Given the description of an element on the screen output the (x, y) to click on. 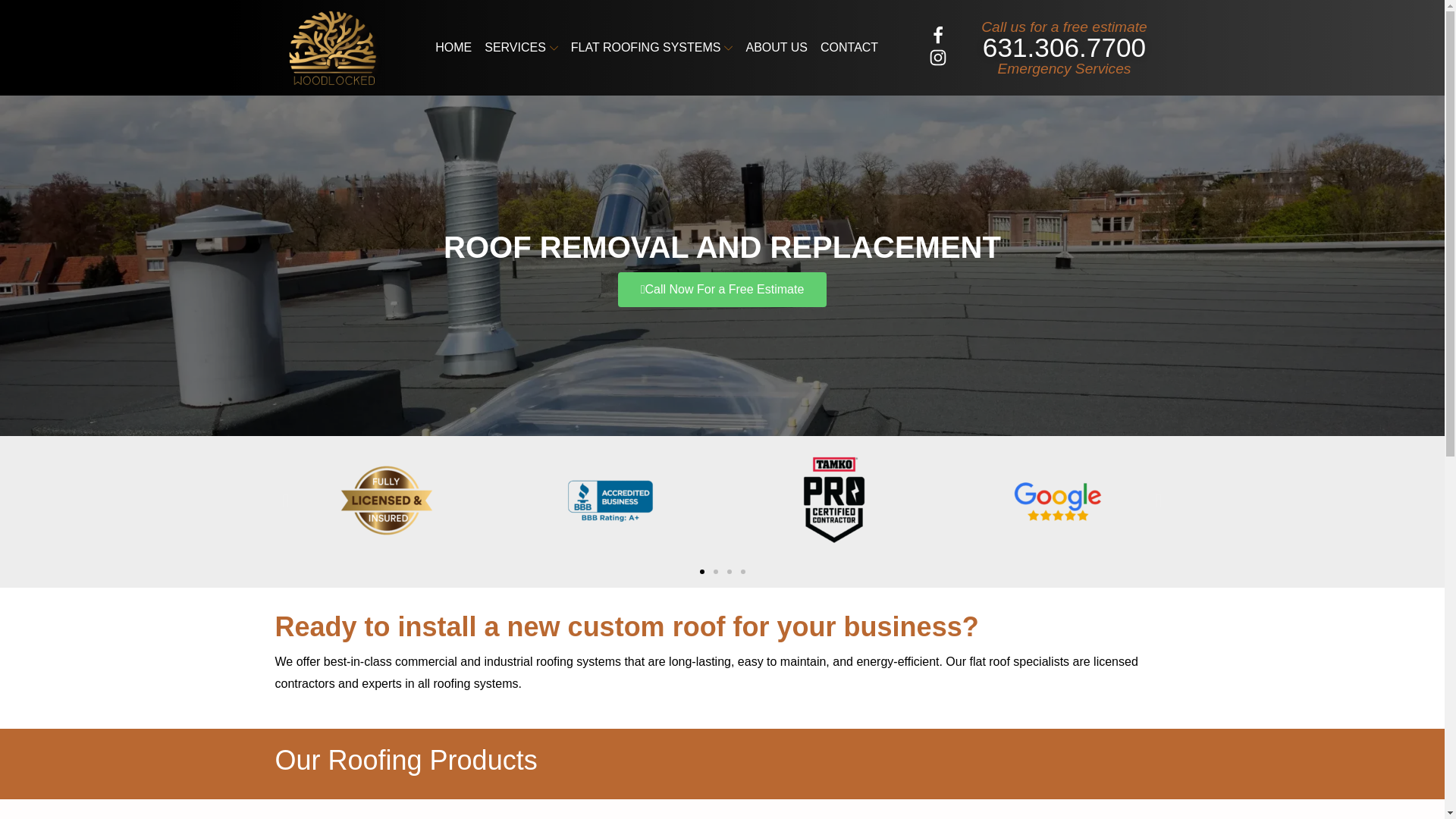
ABOUT US (775, 47)
CONTACT (849, 47)
FLAT ROOFING SYSTEMSARROW-DOWN (652, 47)
SERVICESARROW-DOWN (521, 47)
ARROW-DOWN (553, 48)
HOME (453, 47)
ARROW-DOWN (727, 48)
